Given the description of an element on the screen output the (x, y) to click on. 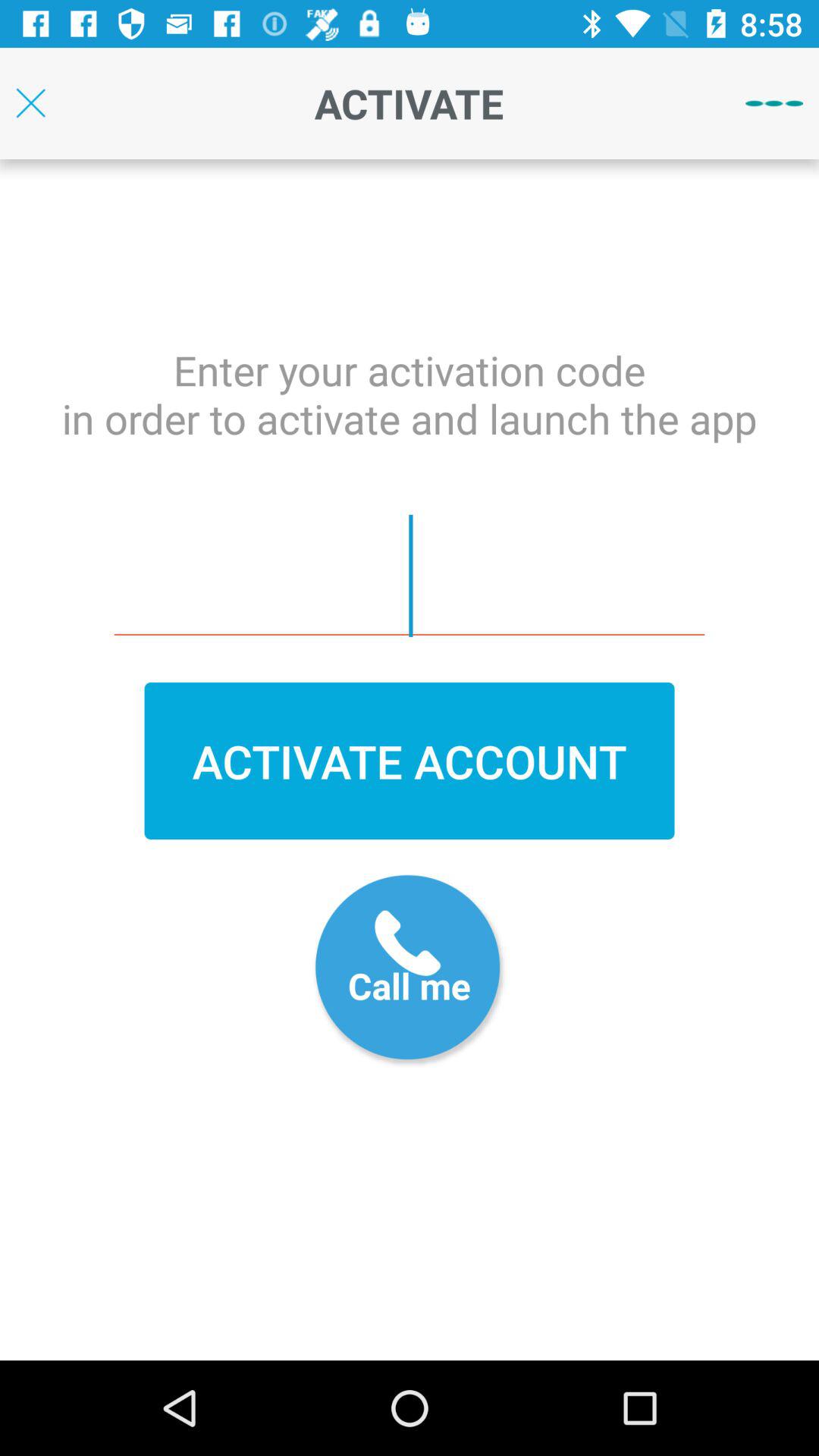
toggle call option (409, 970)
